Given the description of an element on the screen output the (x, y) to click on. 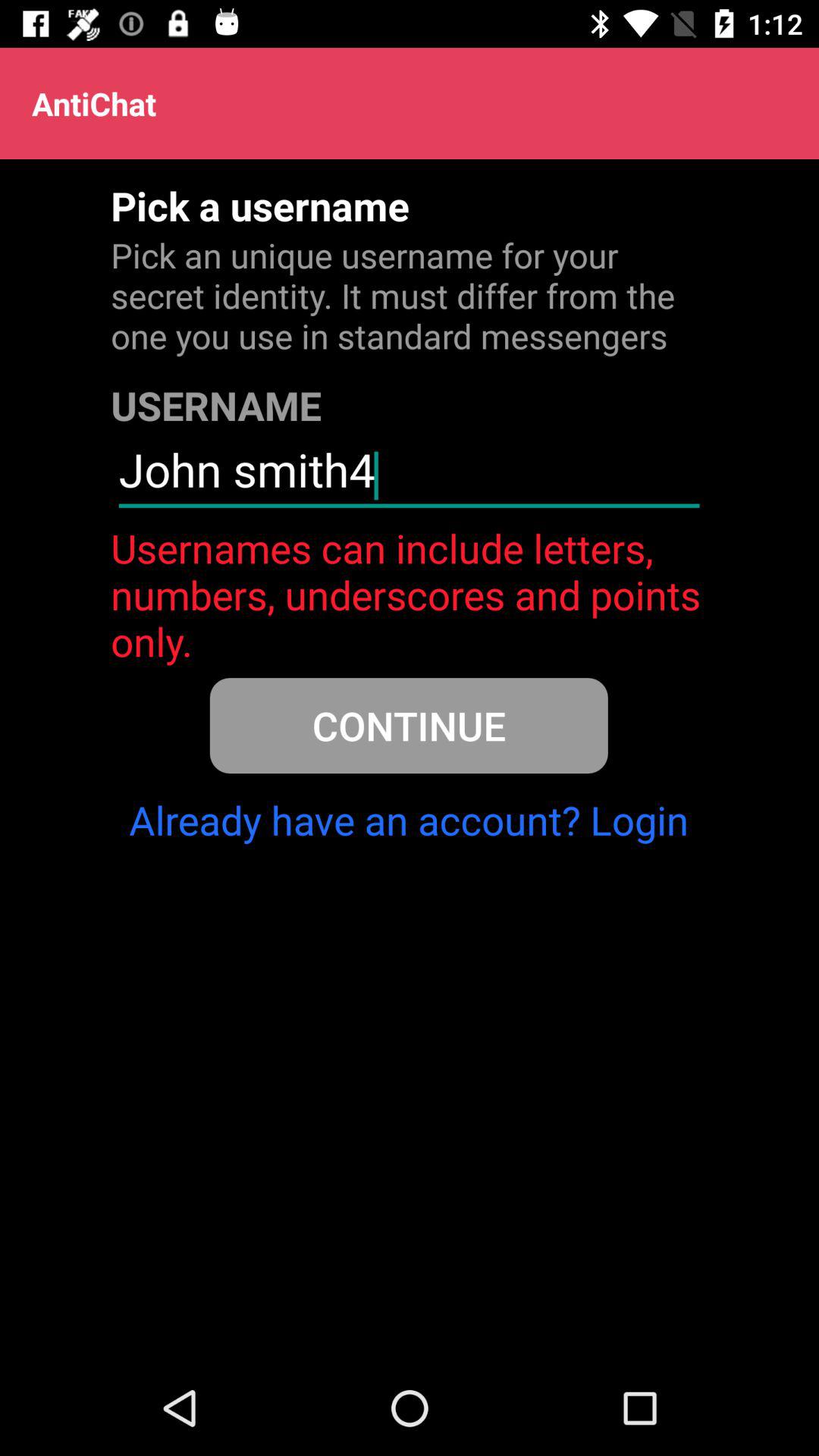
swipe to john smith4 (408, 476)
